Given the description of an element on the screen output the (x, y) to click on. 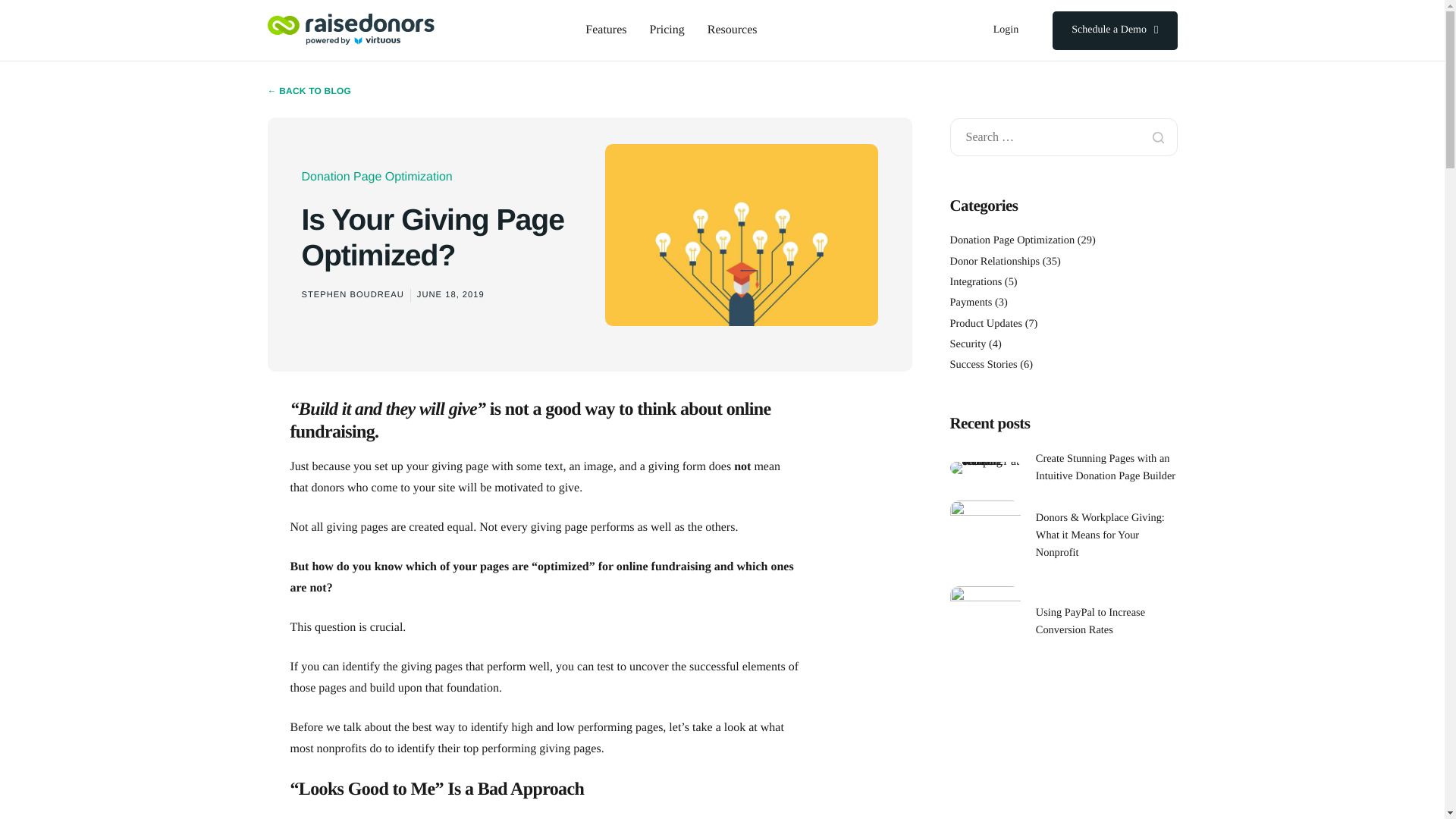
Success Stories (982, 364)
Schedule a Demo (1114, 29)
Features (605, 30)
Pricing (666, 30)
Integrations (975, 282)
Donor Relationships (994, 261)
Donation Page Optimization (376, 176)
Resources (732, 30)
Donation Page Optimization (1011, 240)
